Given the description of an element on the screen output the (x, y) to click on. 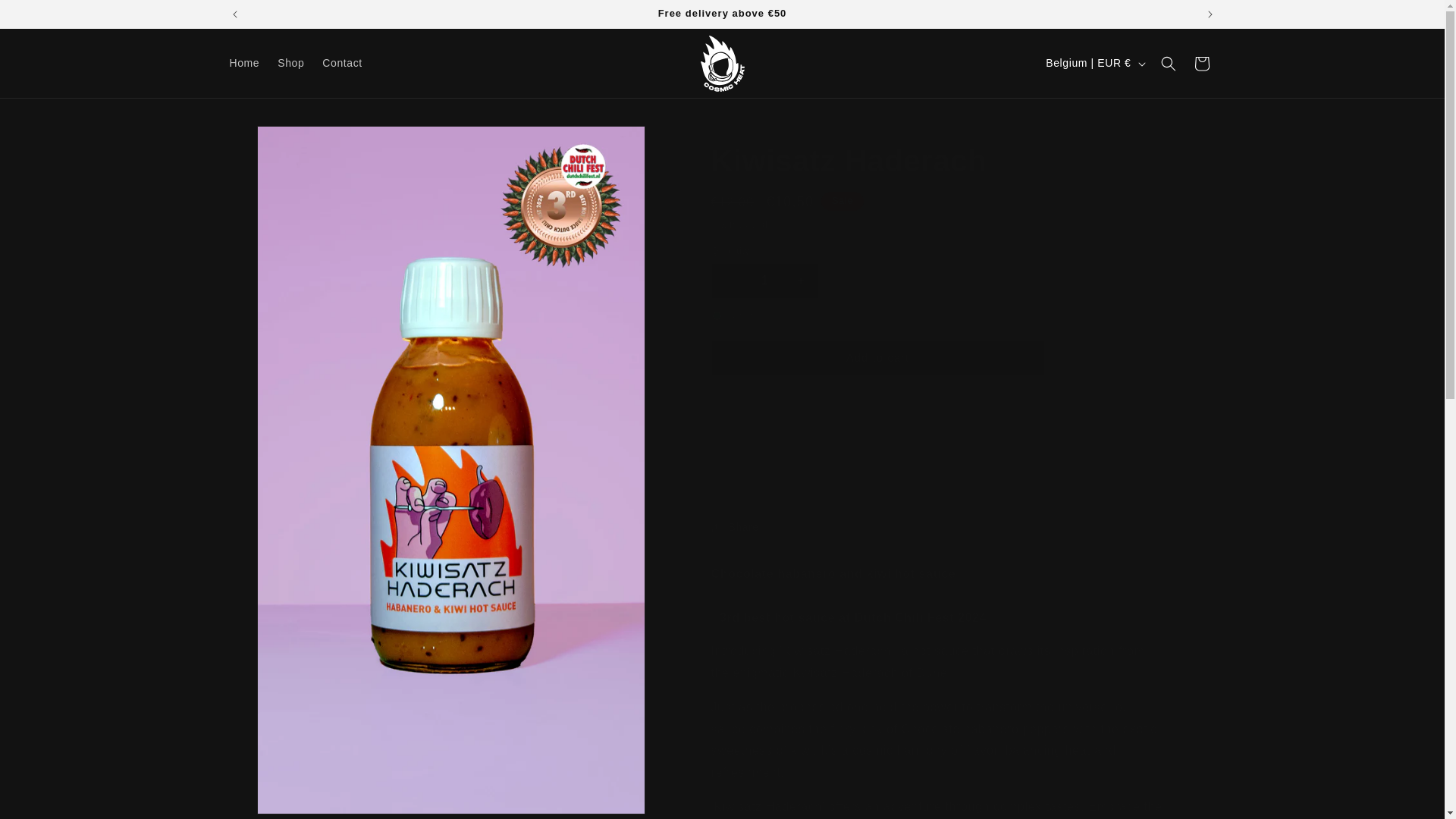
Shop (290, 62)
Skip to content (45, 17)
Skip to product information (274, 142)
1 (764, 280)
Increase quantity for Kiwisatz Haderach (801, 280)
Contact (342, 62)
Add to cart (878, 357)
Home (243, 62)
Decrease quantity for Kiwisatz Haderach (728, 280)
Cart (1201, 63)
